Given the description of an element on the screen output the (x, y) to click on. 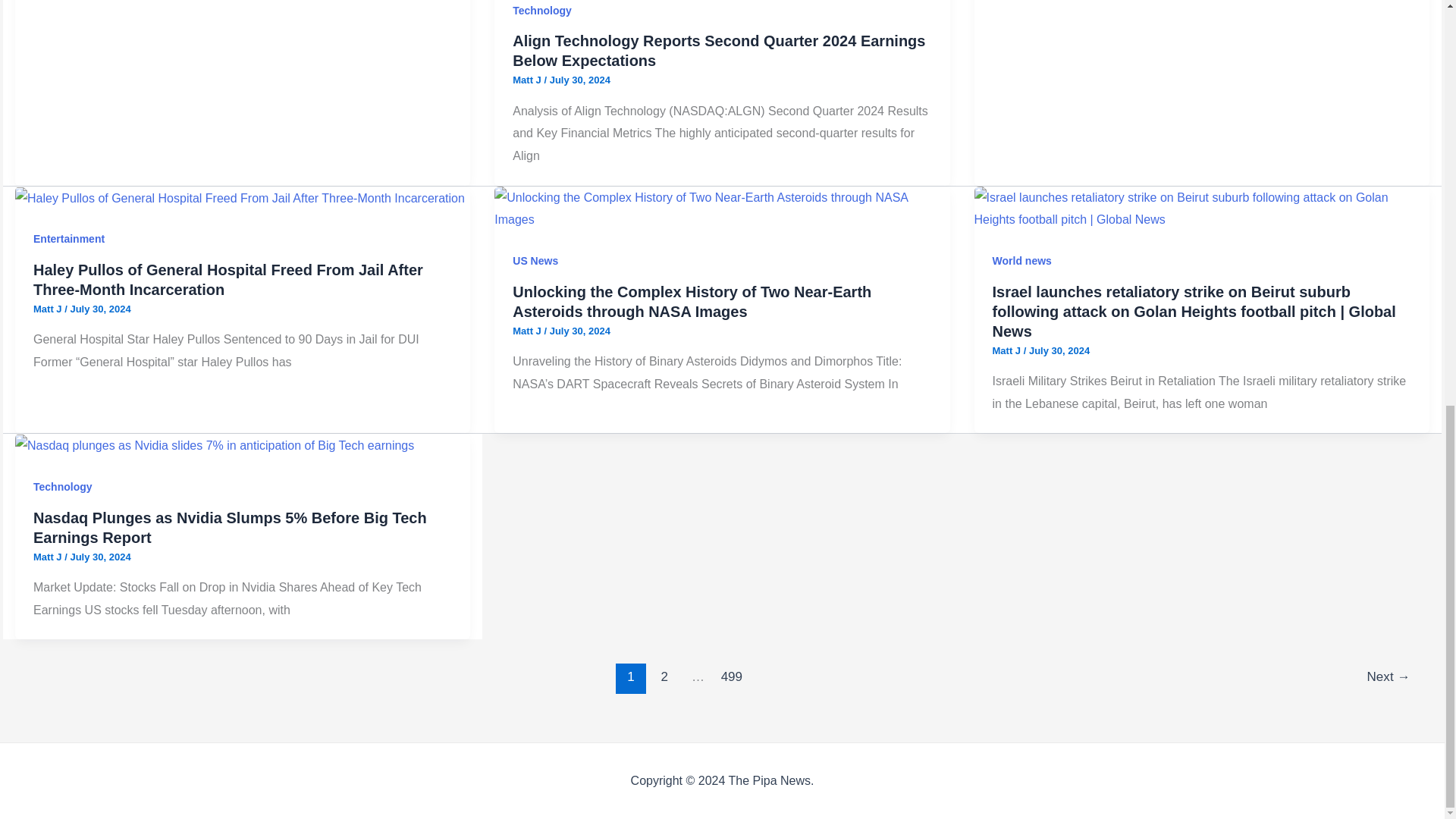
Technology (542, 10)
Matt J (527, 79)
View all posts by Matt J (527, 79)
View all posts by Matt J (48, 308)
